Given the description of an element on the screen output the (x, y) to click on. 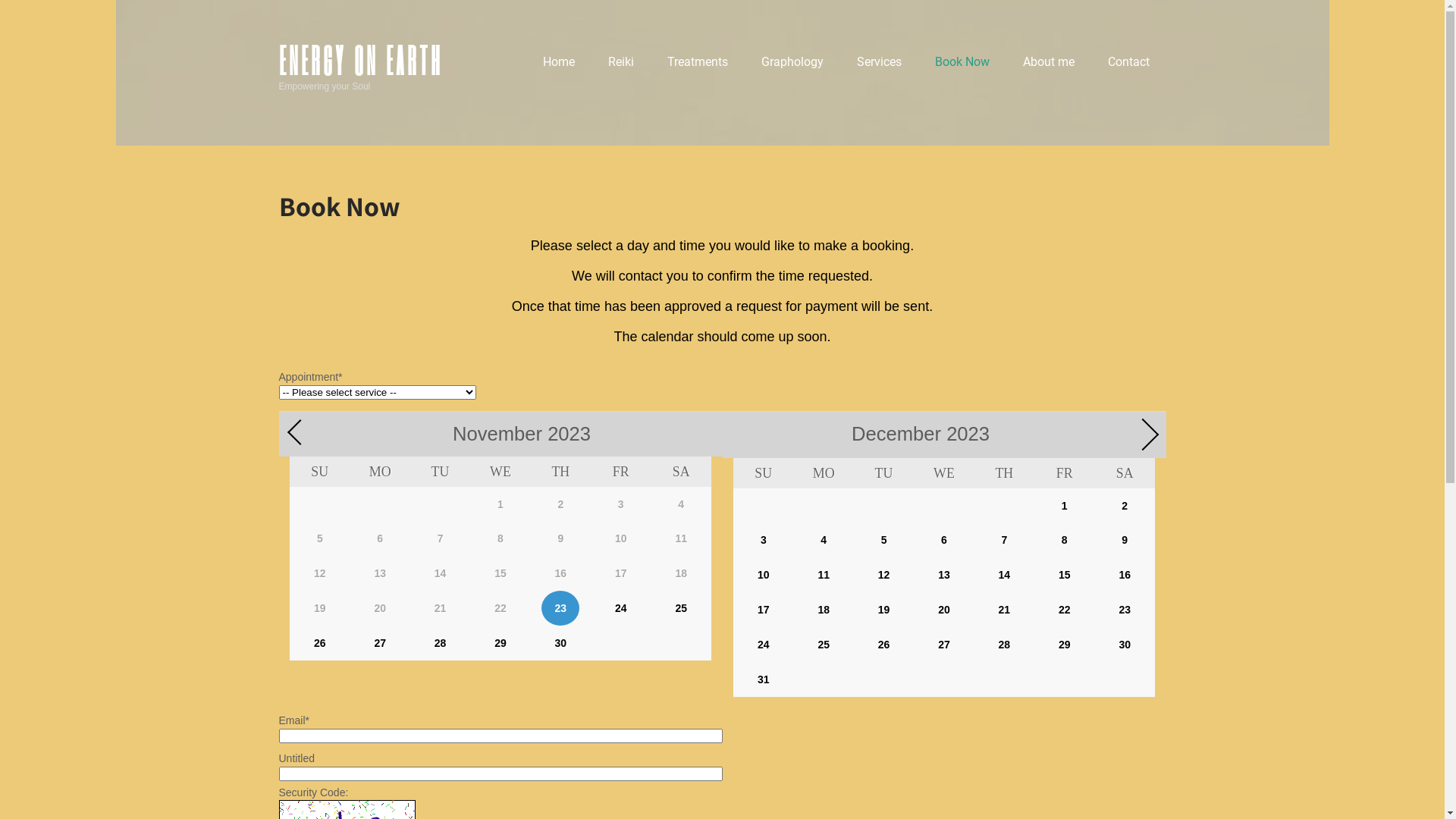
29 Element type: text (1064, 644)
26 Element type: text (319, 642)
21 Element type: text (1003, 609)
22 Element type: text (1064, 609)
16 Element type: text (1124, 574)
Reiki Element type: text (620, 67)
13 Element type: text (944, 574)
29 Element type: text (500, 642)
20 Element type: text (944, 609)
30 Element type: text (1124, 644)
Next Element type: hover (1137, 428)
27 Element type: text (379, 642)
Treatments Element type: text (697, 67)
23 Element type: text (560, 607)
8 Element type: text (1064, 540)
28 Element type: text (1003, 644)
Book Now Element type: text (961, 67)
18 Element type: text (823, 609)
30 Element type: text (560, 642)
28 Element type: text (440, 642)
26 Element type: text (884, 644)
31 Element type: text (763, 679)
24 Element type: text (763, 644)
2 Element type: text (1124, 505)
5 Element type: text (884, 540)
Services Element type: text (879, 67)
ENERGY ON EARTH
Empowering your Soul Element type: text (360, 72)
6 Element type: text (944, 540)
3 Element type: text (763, 540)
27 Element type: text (944, 644)
25 Element type: text (823, 644)
Prev Element type: hover (296, 428)
25 Element type: text (680, 607)
Graphology Element type: text (792, 67)
7 Element type: text (1003, 540)
12 Element type: text (884, 574)
4 Element type: text (823, 540)
15 Element type: text (1064, 574)
19 Element type: text (884, 609)
14 Element type: text (1003, 574)
11 Element type: text (823, 574)
Contact Element type: text (1127, 67)
9 Element type: text (1124, 540)
About me Element type: text (1047, 67)
10 Element type: text (763, 574)
Home Element type: text (558, 67)
23 Element type: text (1124, 609)
1 Element type: text (1064, 505)
24 Element type: text (621, 607)
17 Element type: text (763, 609)
